Given the description of an element on the screen output the (x, y) to click on. 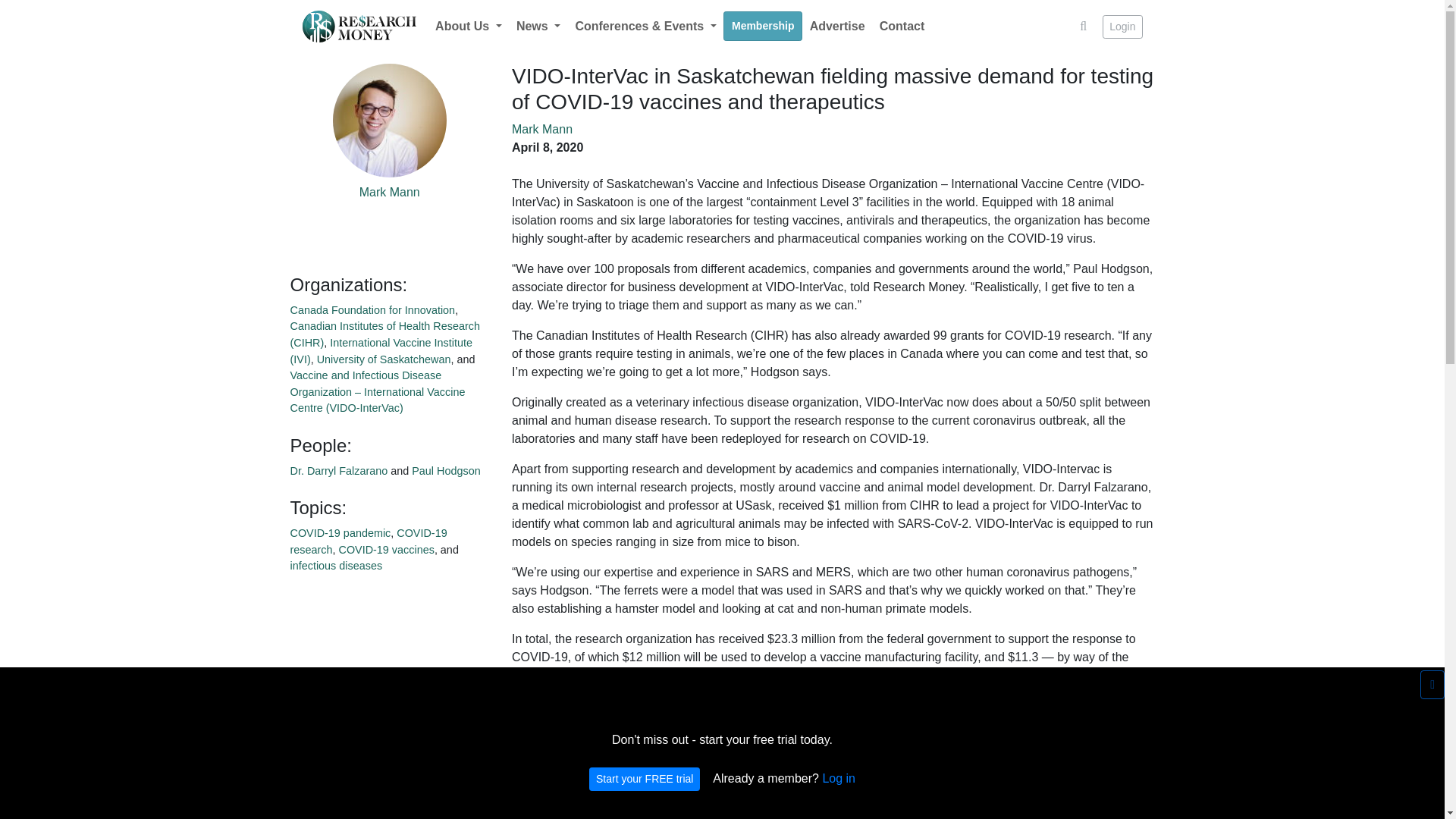
News (537, 26)
Membership (762, 25)
About Us (468, 26)
University of Saskatchewan (384, 358)
COVID-19 vaccines (385, 549)
COVID-19 pandemic (339, 532)
Paul Hodgson (446, 470)
Login (1121, 26)
Canada Foundation for Innovation (371, 309)
Mark Mann (542, 128)
